Given the description of an element on the screen output the (x, y) to click on. 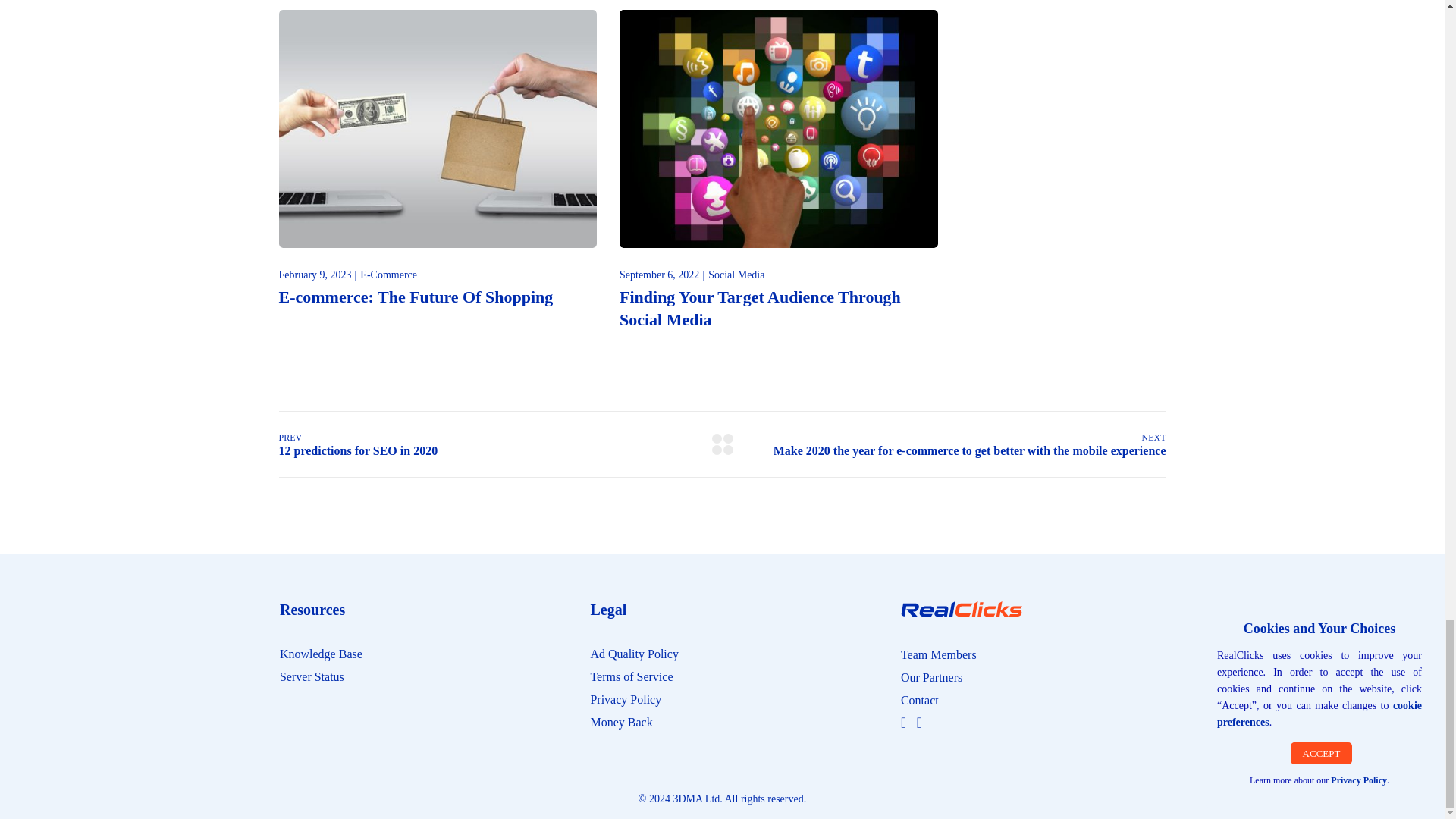
E-Commerce (387, 274)
Social Media (735, 274)
E-commerce: The Future Of Shopping (416, 296)
Finding Your Target Audience Through Social Media (760, 308)
